Given the description of an element on the screen output the (x, y) to click on. 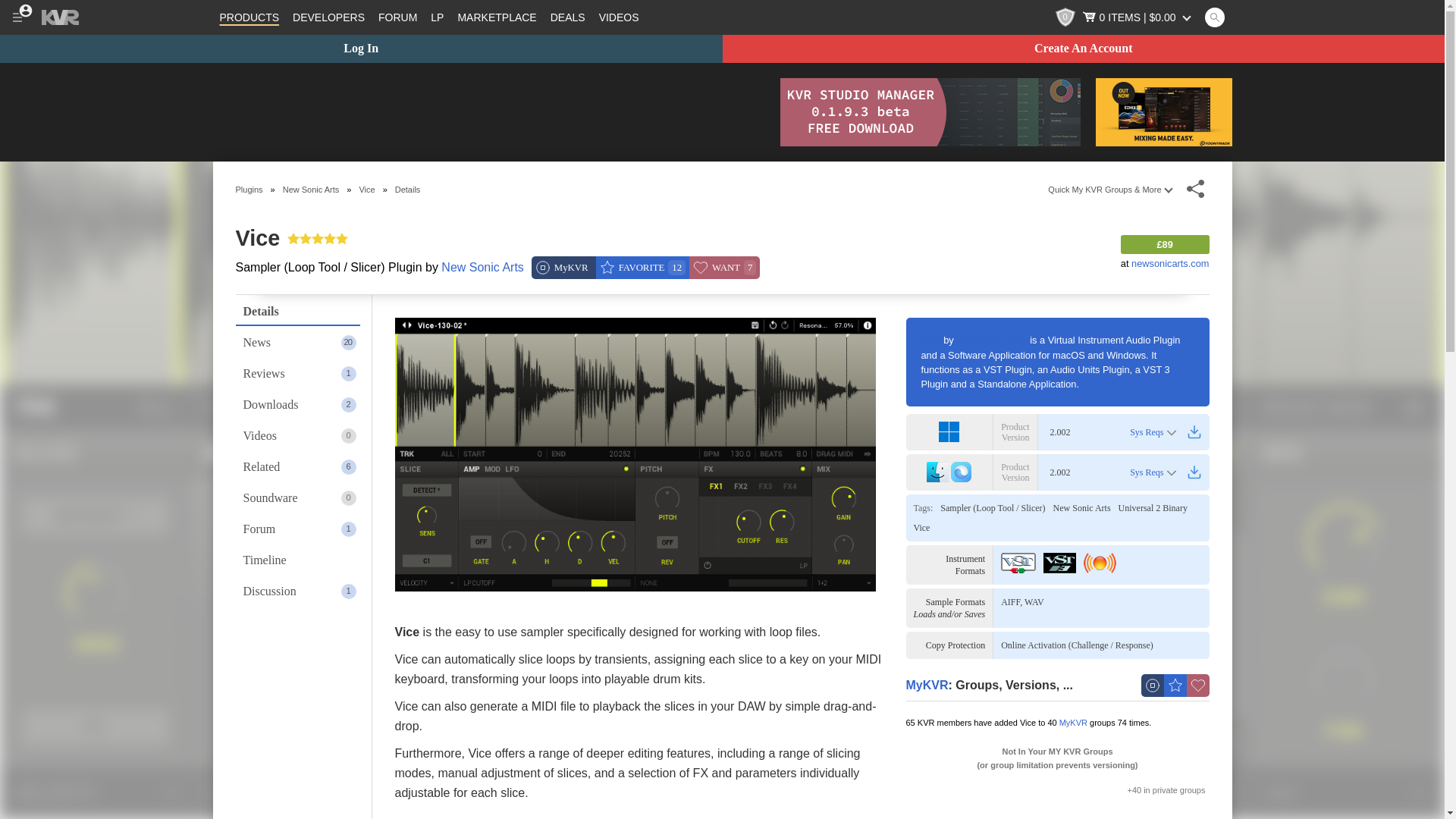
Share This (1195, 189)
Forum (397, 17)
Toontrack - EZMix 3 (1162, 111)
Forum Latest Posts (436, 17)
Cart (1137, 17)
Plugins and Products Database (248, 17)
Marketplace (496, 17)
